Given the description of an element on the screen output the (x, y) to click on. 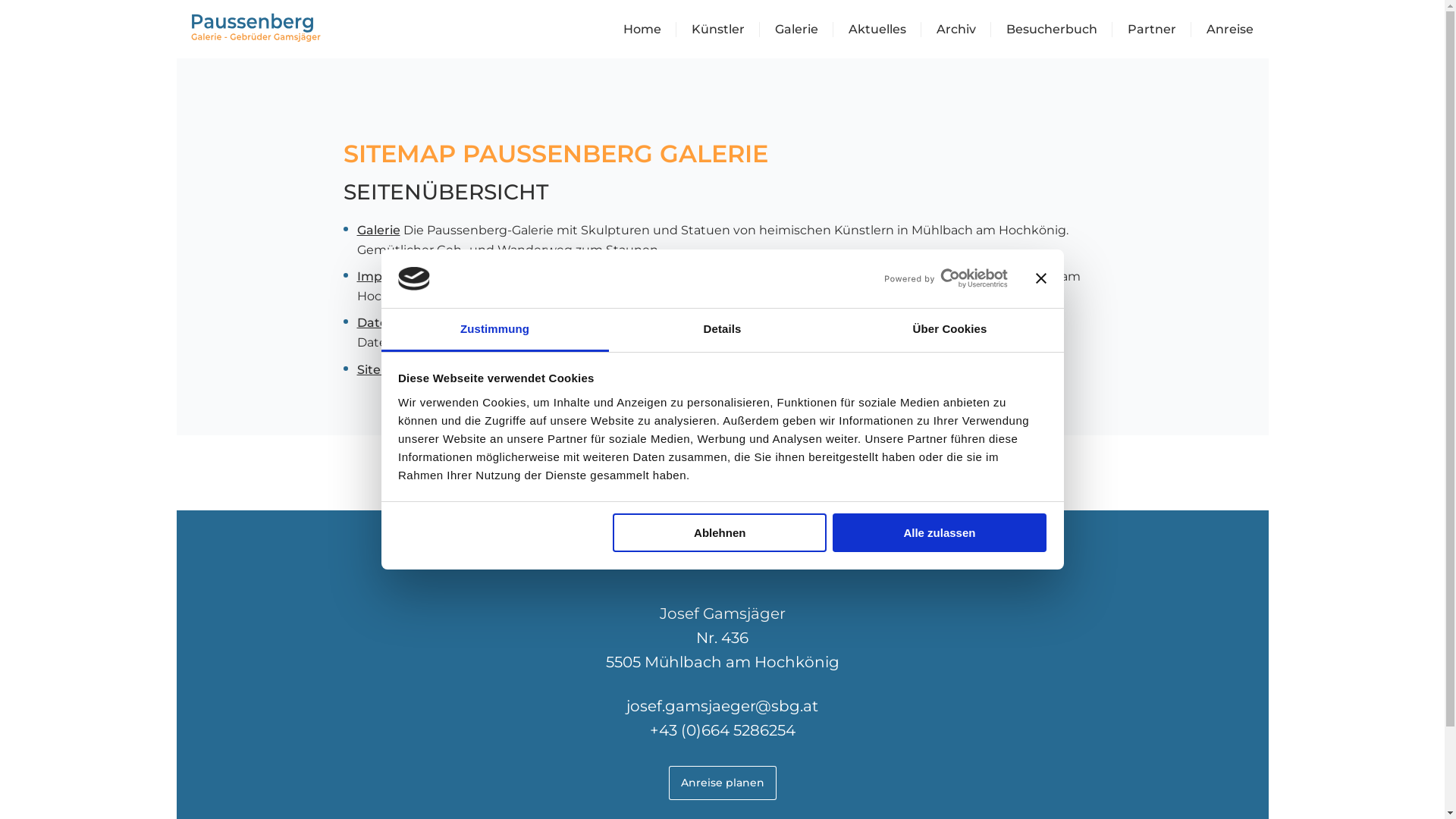
Zustimmung Element type: text (494, 329)
Nach oben Element type: hover (722, 477)
Galerie Element type: text (796, 29)
Alle zulassen Element type: text (939, 532)
Datenschutz Element type: text (396, 322)
Archiv Element type: text (955, 29)
Partner Element type: text (1150, 29)
Details Element type: text (721, 329)
Home Element type: text (642, 29)
Besucherbuch Element type: text (1050, 29)
josef.gamsjaeger@sbg.at Element type: text (722, 705)
Galerie Element type: text (377, 229)
Anreise Element type: text (1228, 29)
Aktuelles Element type: text (876, 29)
Impressum Element type: text (391, 276)
+43 (0)664 5286254 Element type: text (721, 730)
Sitemap Element type: text (382, 369)
Ablehnen Element type: text (719, 532)
Anreise planen Element type: text (721, 782)
